Given the description of an element on the screen output the (x, y) to click on. 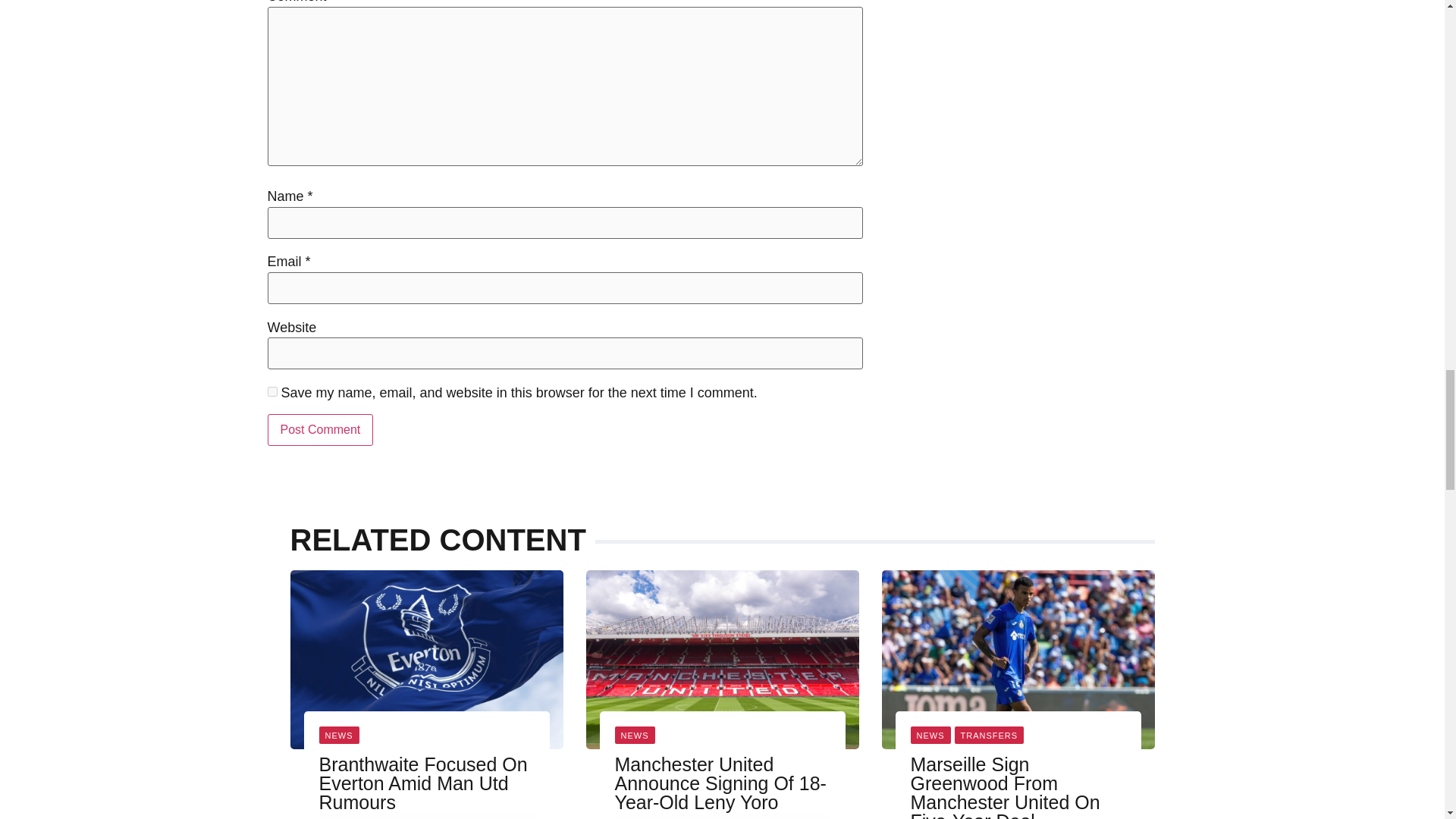
Post Comment (319, 429)
yes (271, 391)
